Given the description of an element on the screen output the (x, y) to click on. 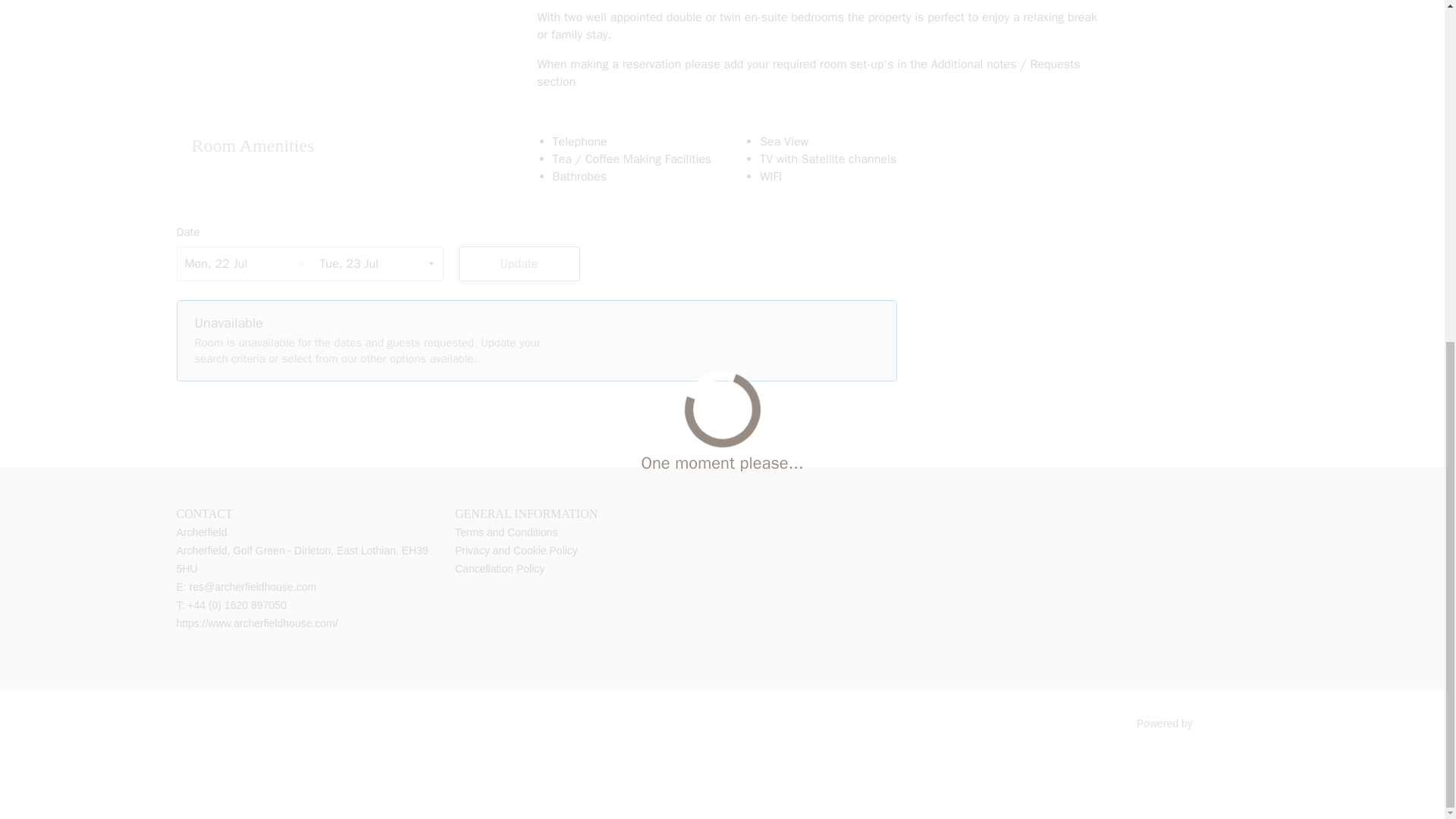
Privacy and Cookie Policy (516, 550)
Tue, 23 Jul (377, 263)
Cancellation Policy (499, 568)
Terms and Conditions (505, 532)
Mon, 22 Jul (242, 263)
Update (518, 263)
